Given the description of an element on the screen output the (x, y) to click on. 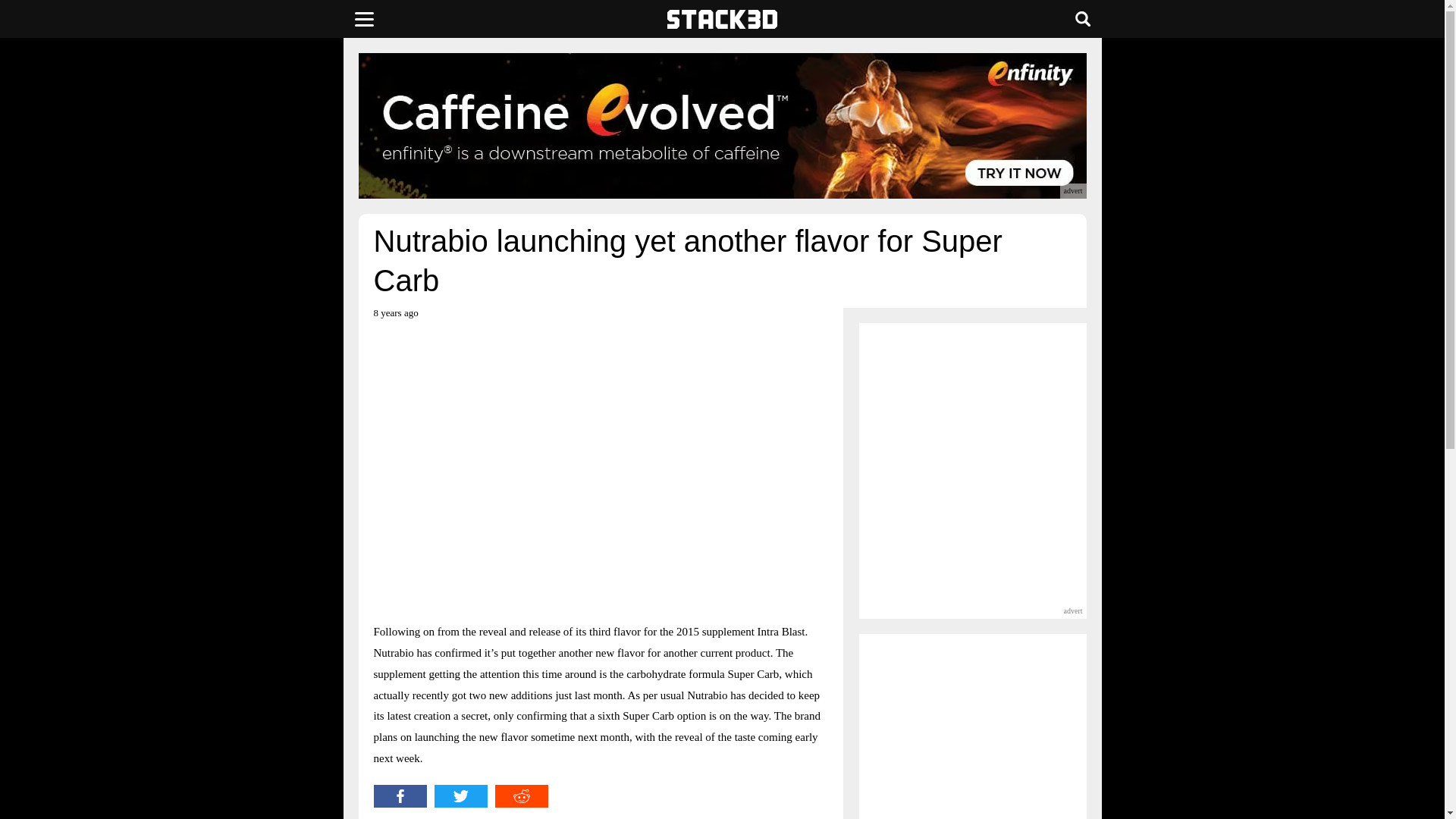
December 16th 2015 (395, 318)
